Given the description of an element on the screen output the (x, y) to click on. 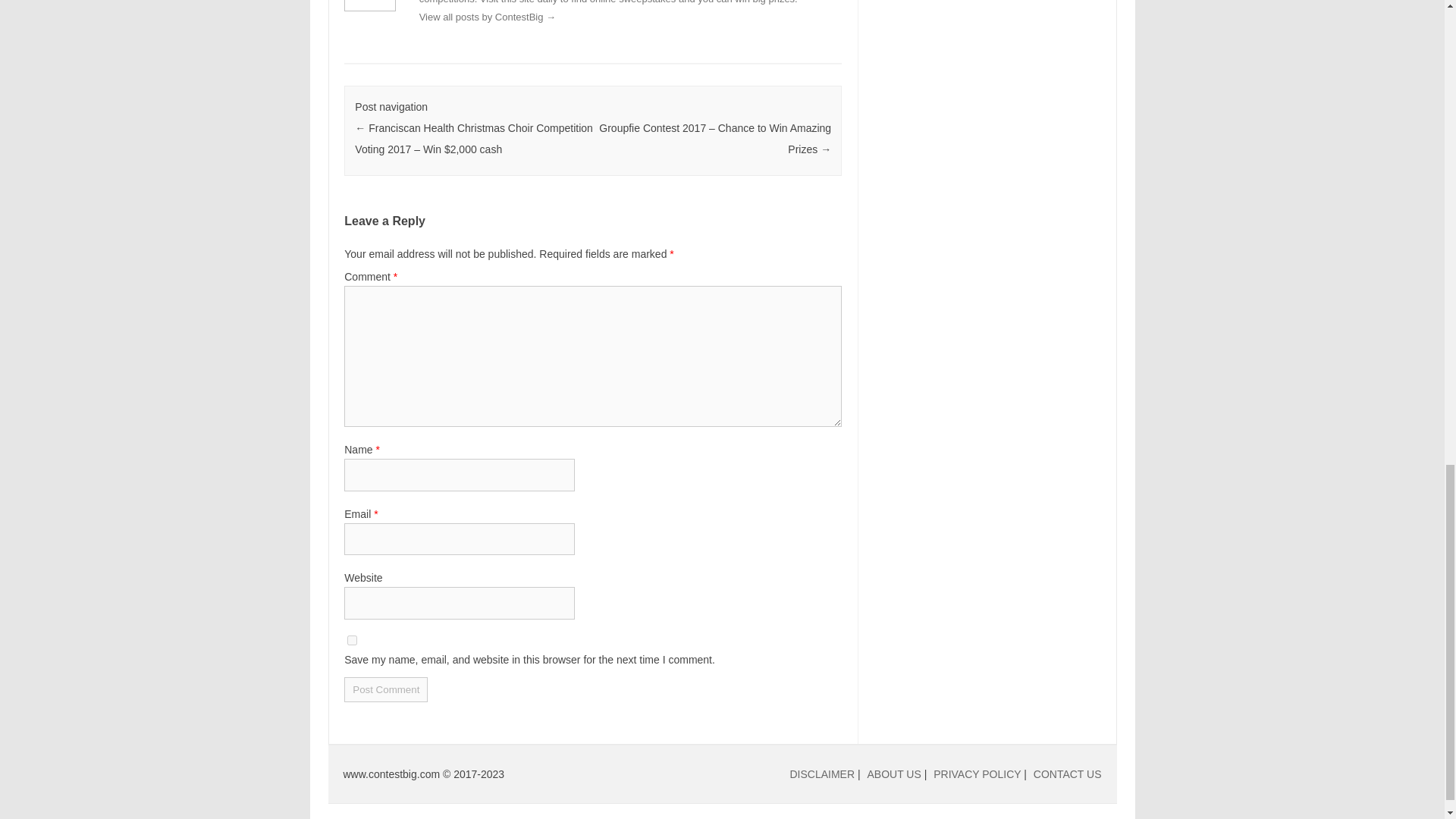
PRIVACY POLICY (976, 774)
Post Comment (385, 689)
yes (351, 640)
ABOUT US (894, 774)
DISCLAIMER (821, 774)
Post Comment (385, 689)
CONTACT US (1067, 774)
